Given the description of an element on the screen output the (x, y) to click on. 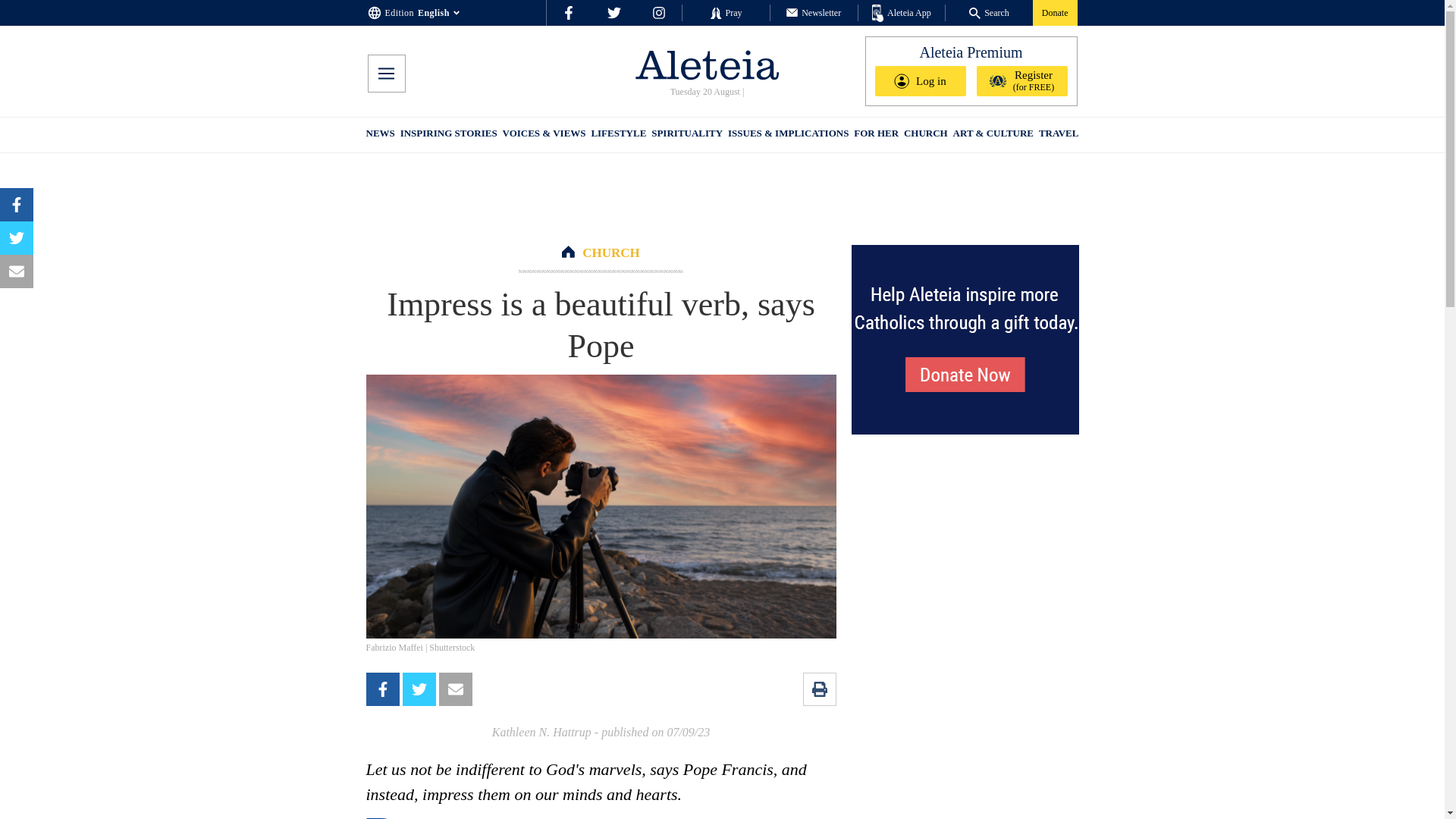
LIFESTYLE (618, 134)
CHURCH (611, 252)
Search (989, 12)
TRAVEL (1058, 134)
Aleteia App (901, 13)
Newsletter (813, 12)
INSPIRING STORIES (448, 134)
SPIRITUALITY (686, 134)
Pray (725, 12)
Log in (920, 81)
